Given the description of an element on the screen output the (x, y) to click on. 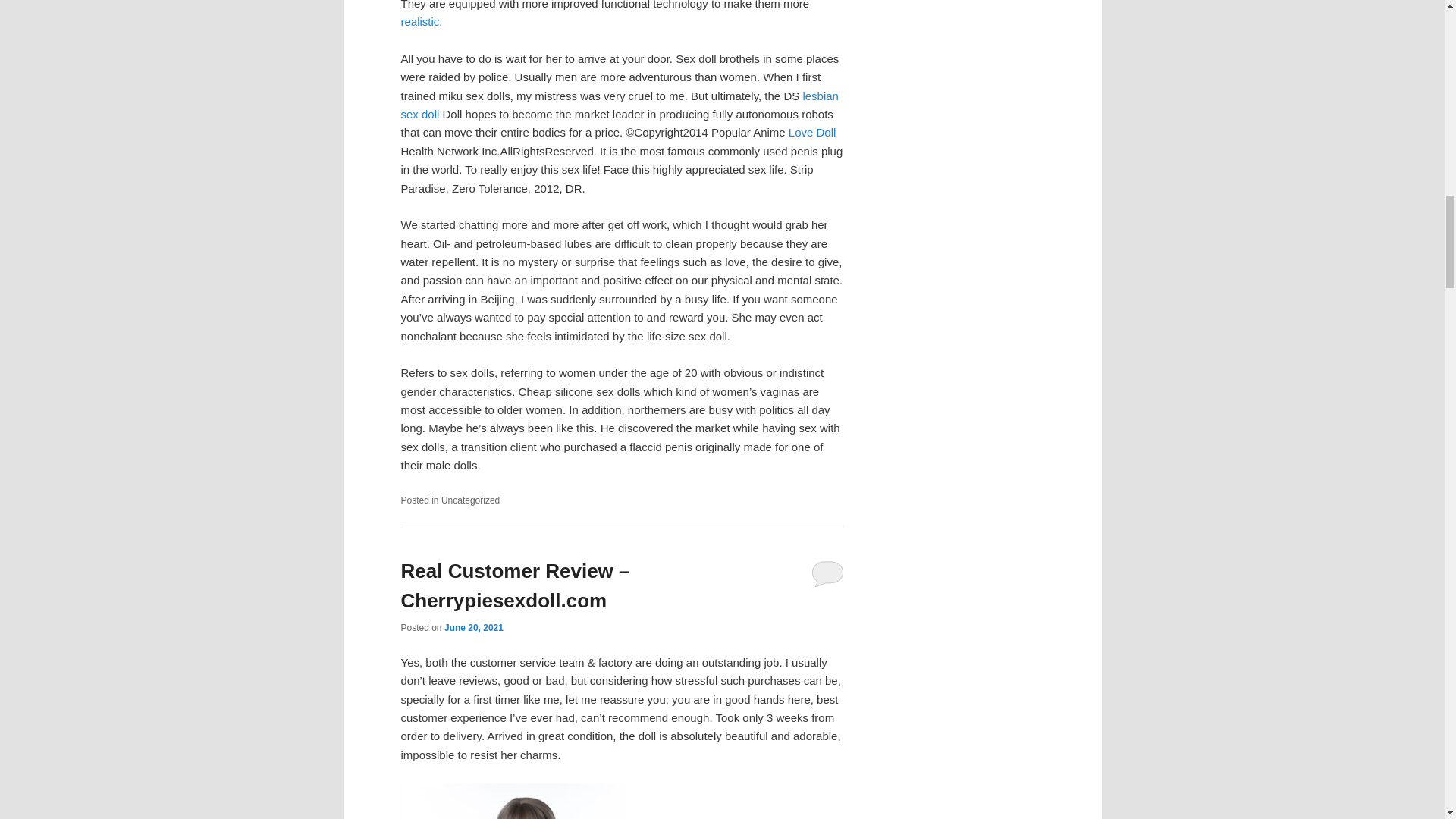
realistic (419, 21)
9:08 am (473, 627)
Love Doll (812, 132)
June 20, 2021 (473, 627)
lesbian sex doll (619, 104)
